Given the description of an element on the screen output the (x, y) to click on. 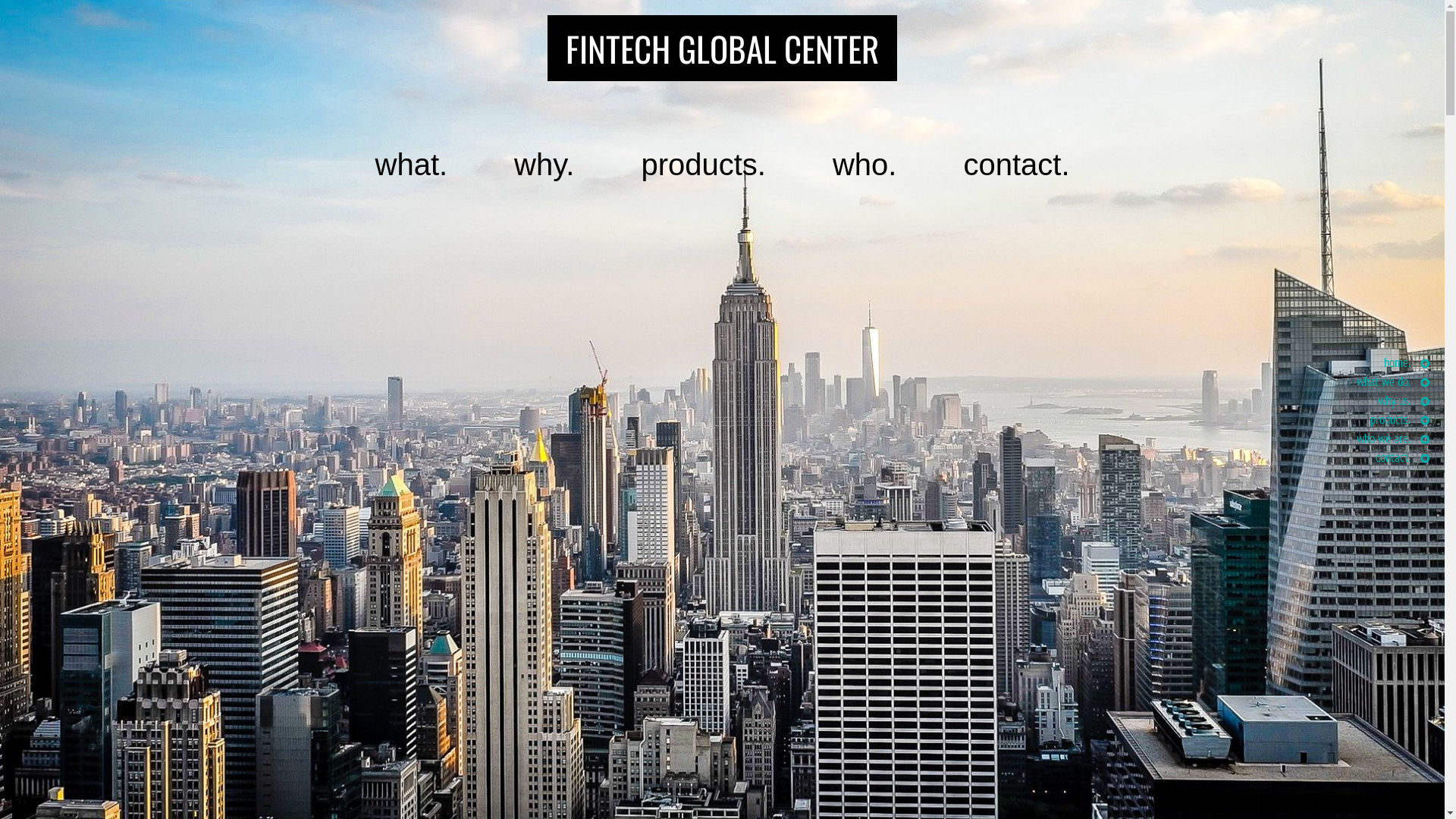
why us. Element type: text (1403, 399)
FINTECH GLOBAL CENTER Element type: text (722, 48)
why. Element type: text (544, 164)
contact. Element type: text (1015, 164)
products. Element type: text (1399, 419)
who. Element type: text (864, 164)
who we are. Element type: text (1392, 437)
home. Element type: text (1406, 361)
contact. Element type: text (1402, 456)
what. Element type: text (410, 164)
what we do. Element type: text (1392, 381)
products. Element type: text (703, 164)
